Given the description of an element on the screen output the (x, y) to click on. 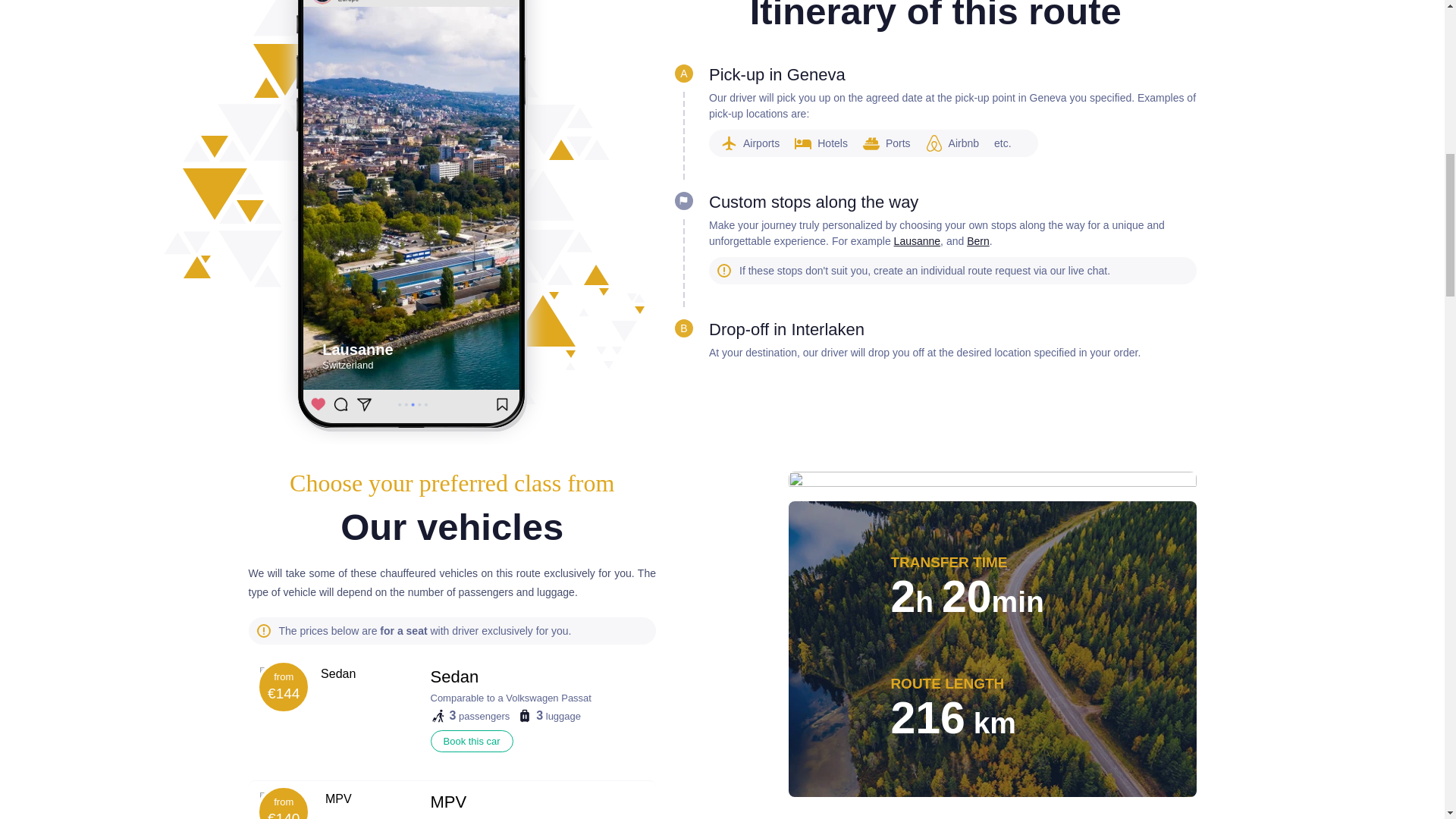
Bern (978, 241)
Bern (978, 241)
Lausanne (916, 241)
Book this car (471, 741)
Lausanne (916, 241)
